Given the description of an element on the screen output the (x, y) to click on. 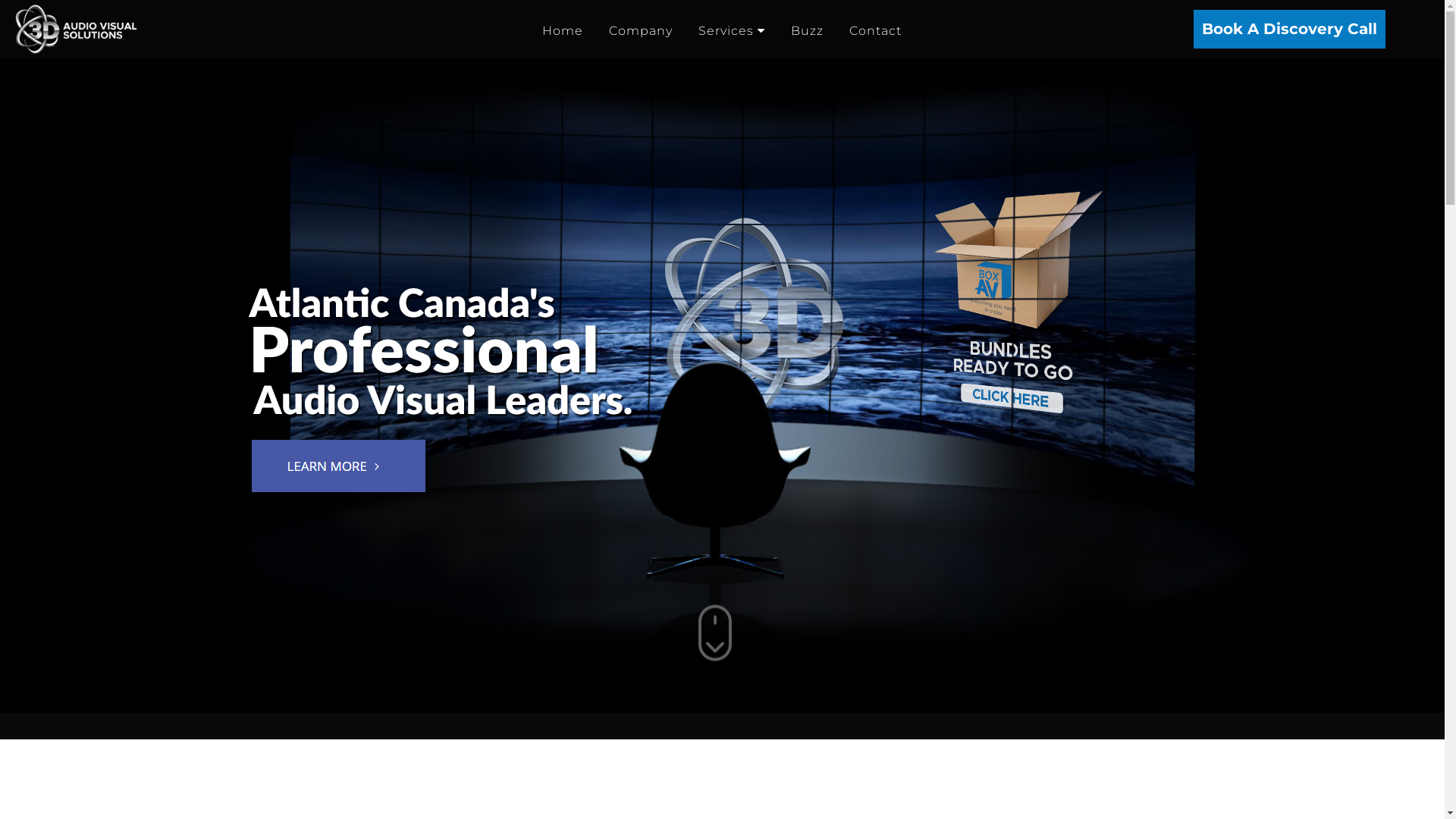
Services Element type: text (731, 30)
Contact Element type: text (875, 30)
Home Element type: text (562, 30)
Company Element type: text (640, 30)
Book A Discovery Call Element type: text (1289, 28)
Buzz Element type: text (806, 30)
